Given the description of an element on the screen output the (x, y) to click on. 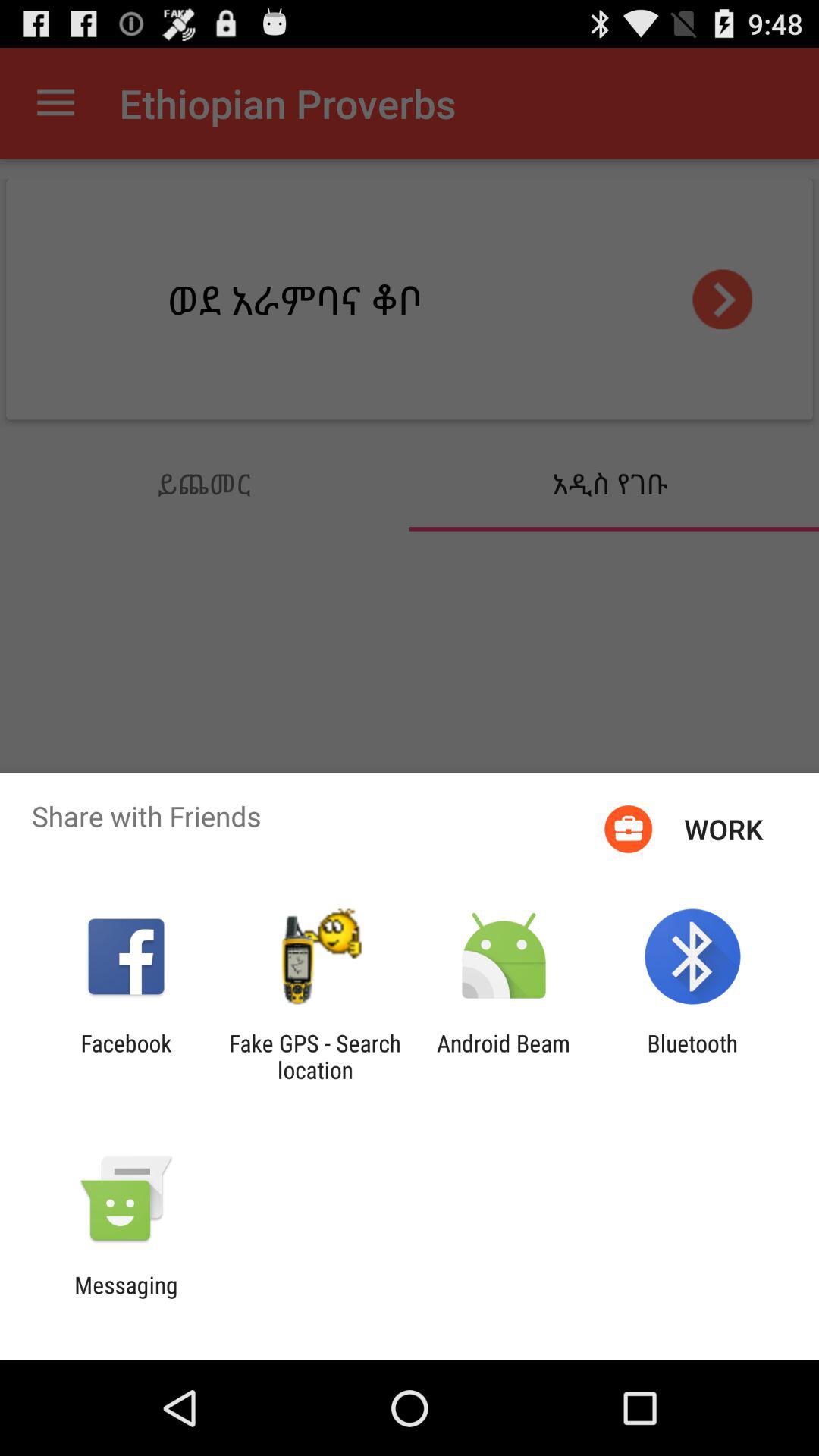
launch app to the right of the android beam item (692, 1056)
